Given the description of an element on the screen output the (x, y) to click on. 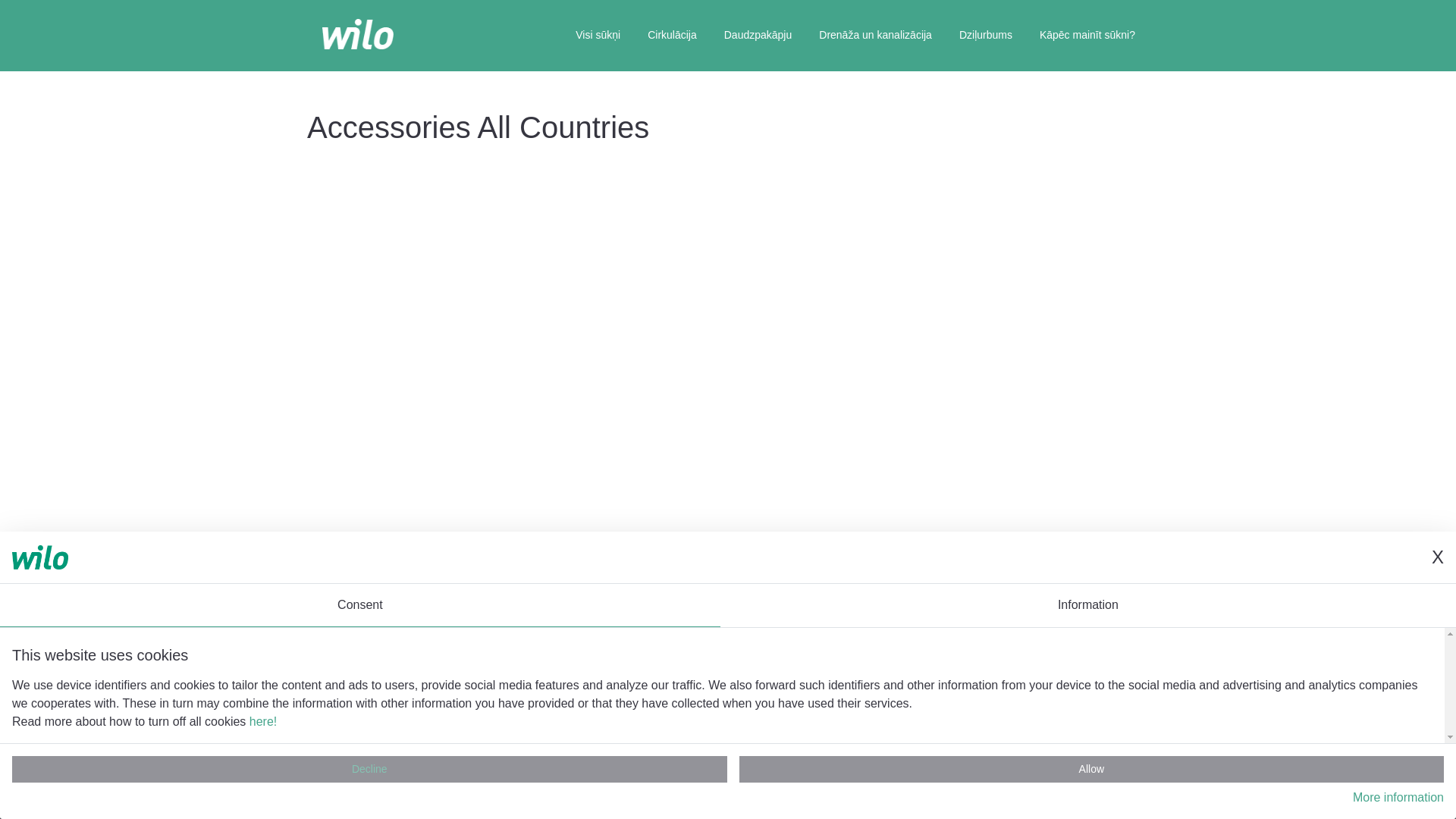
Decline (368, 768)
here! (262, 721)
More information (1398, 797)
Data protection (695, 779)
Allow (1091, 768)
Imprint (572, 779)
Cookie policy (818, 779)
